Given the description of an element on the screen output the (x, y) to click on. 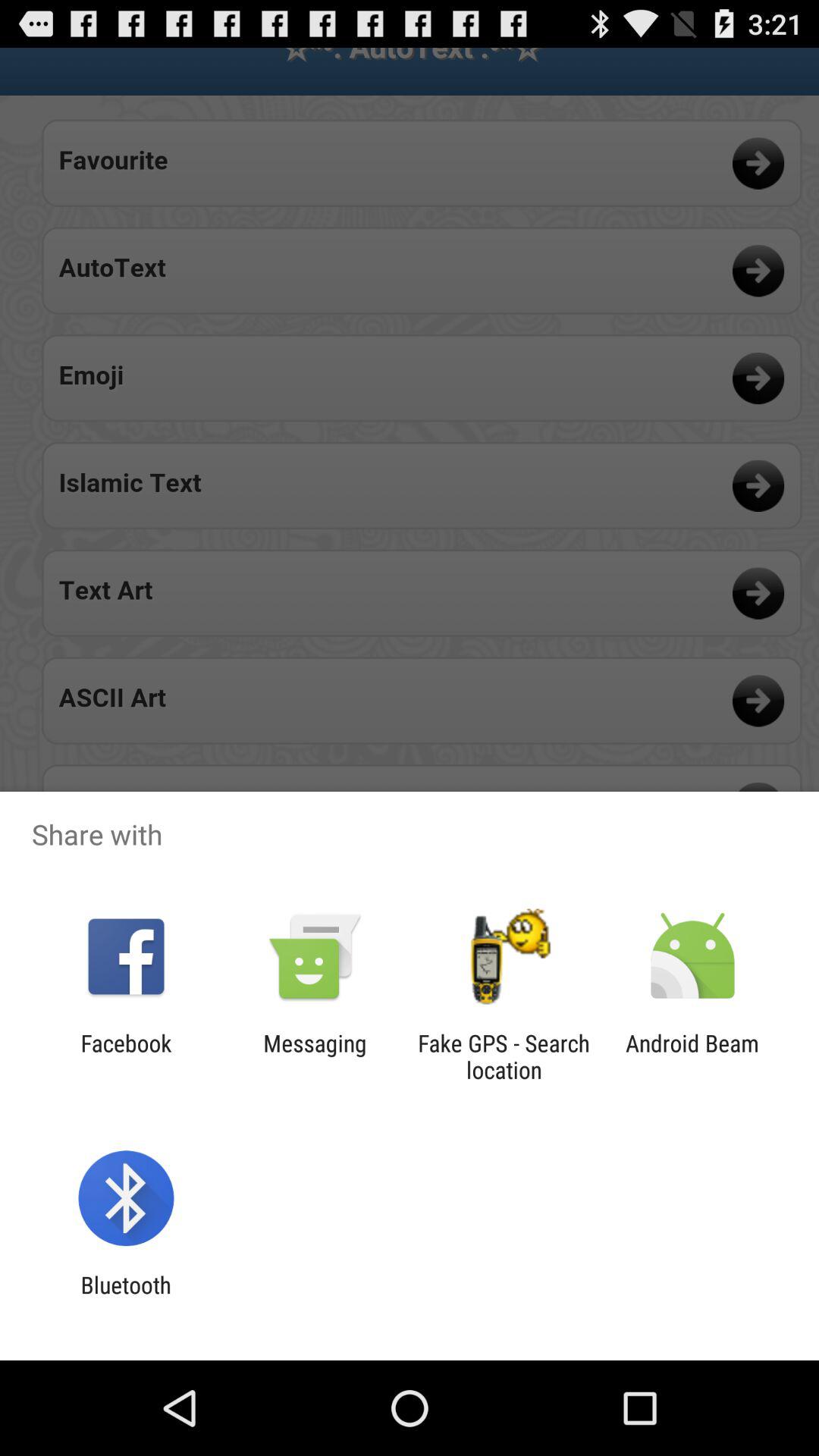
tap the app to the right of the fake gps search icon (692, 1056)
